Given the description of an element on the screen output the (x, y) to click on. 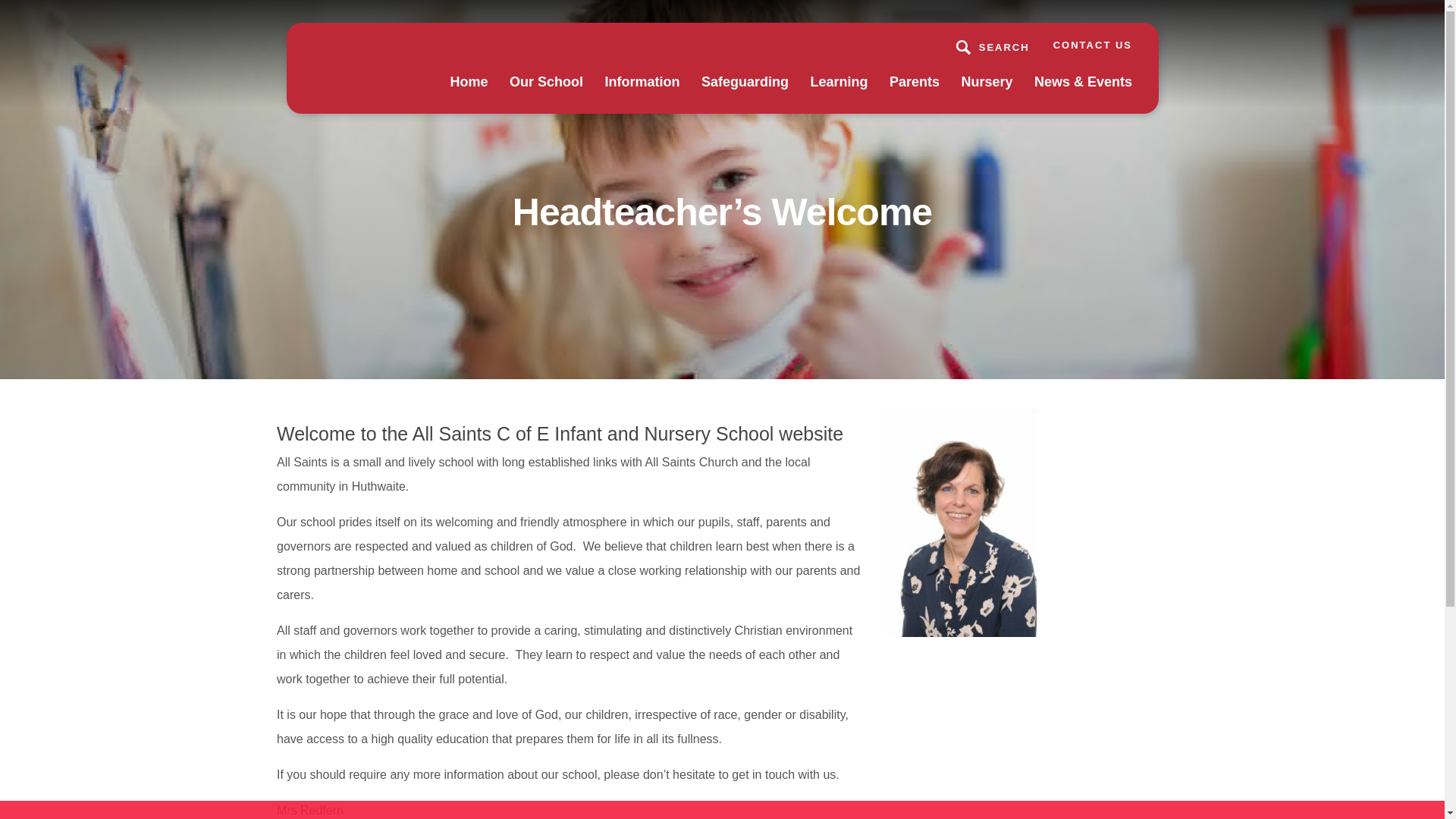
Our School (546, 92)
Learning (838, 92)
Safeguarding (745, 92)
Parents (914, 92)
Home (468, 92)
Information (642, 92)
CONTACT US (1092, 44)
